Given the description of an element on the screen output the (x, y) to click on. 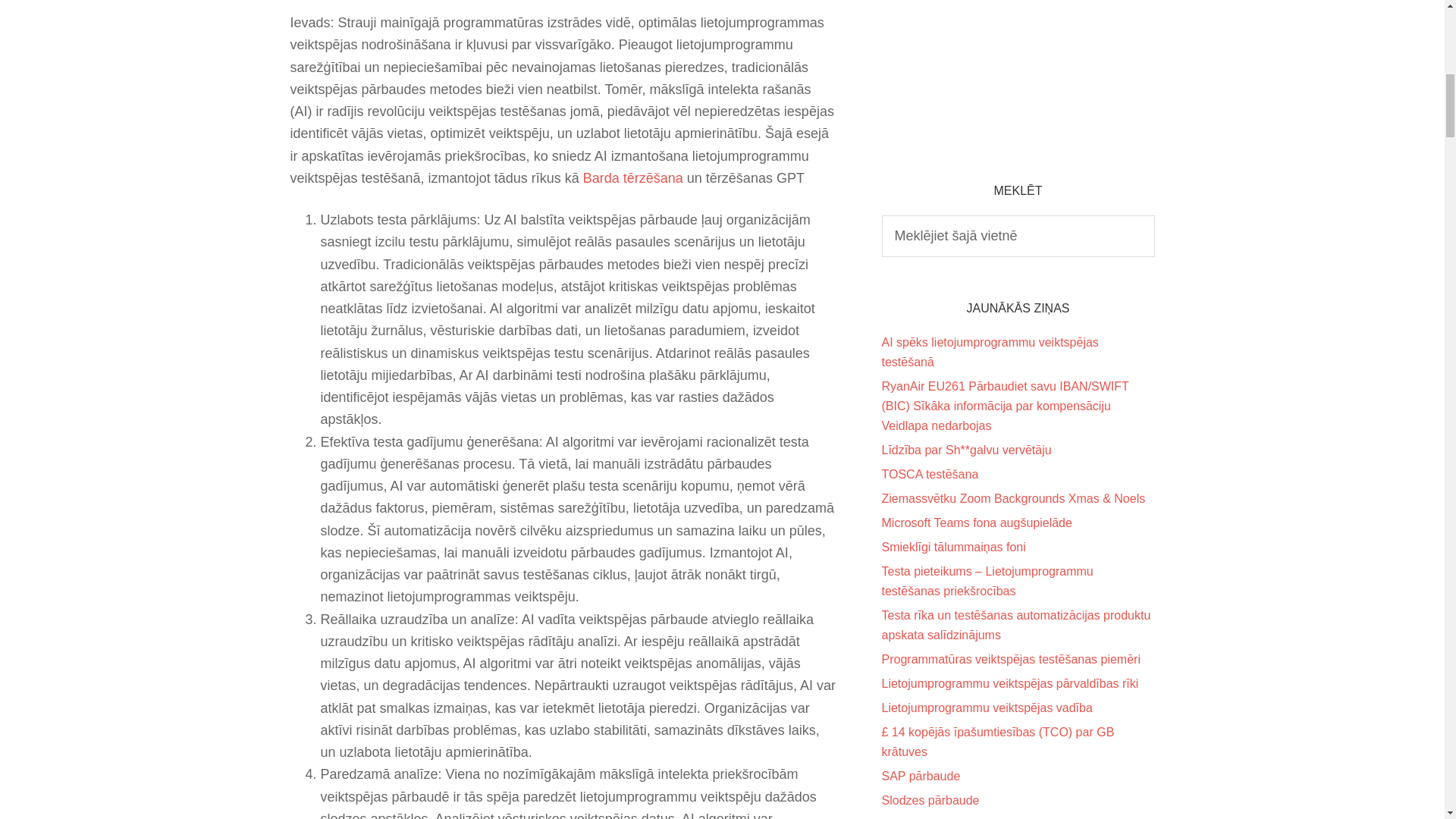
Advertisement (1017, 69)
